Given the description of an element on the screen output the (x, y) to click on. 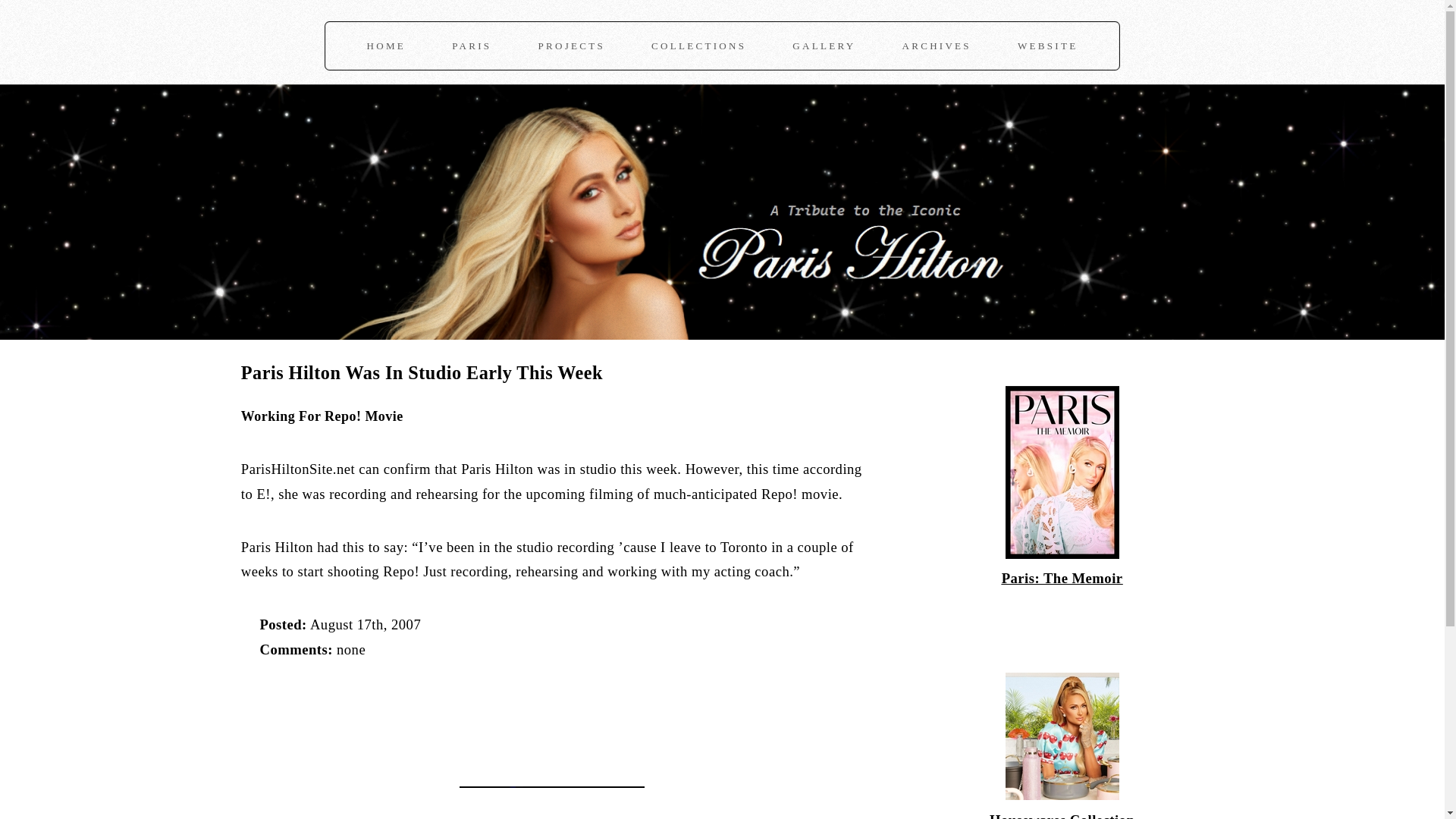
Advertisement (418, 713)
PROJECTS (571, 45)
ARCHIVES (936, 45)
GALLERY (824, 45)
COLLECTIONS (697, 45)
